Given the description of an element on the screen output the (x, y) to click on. 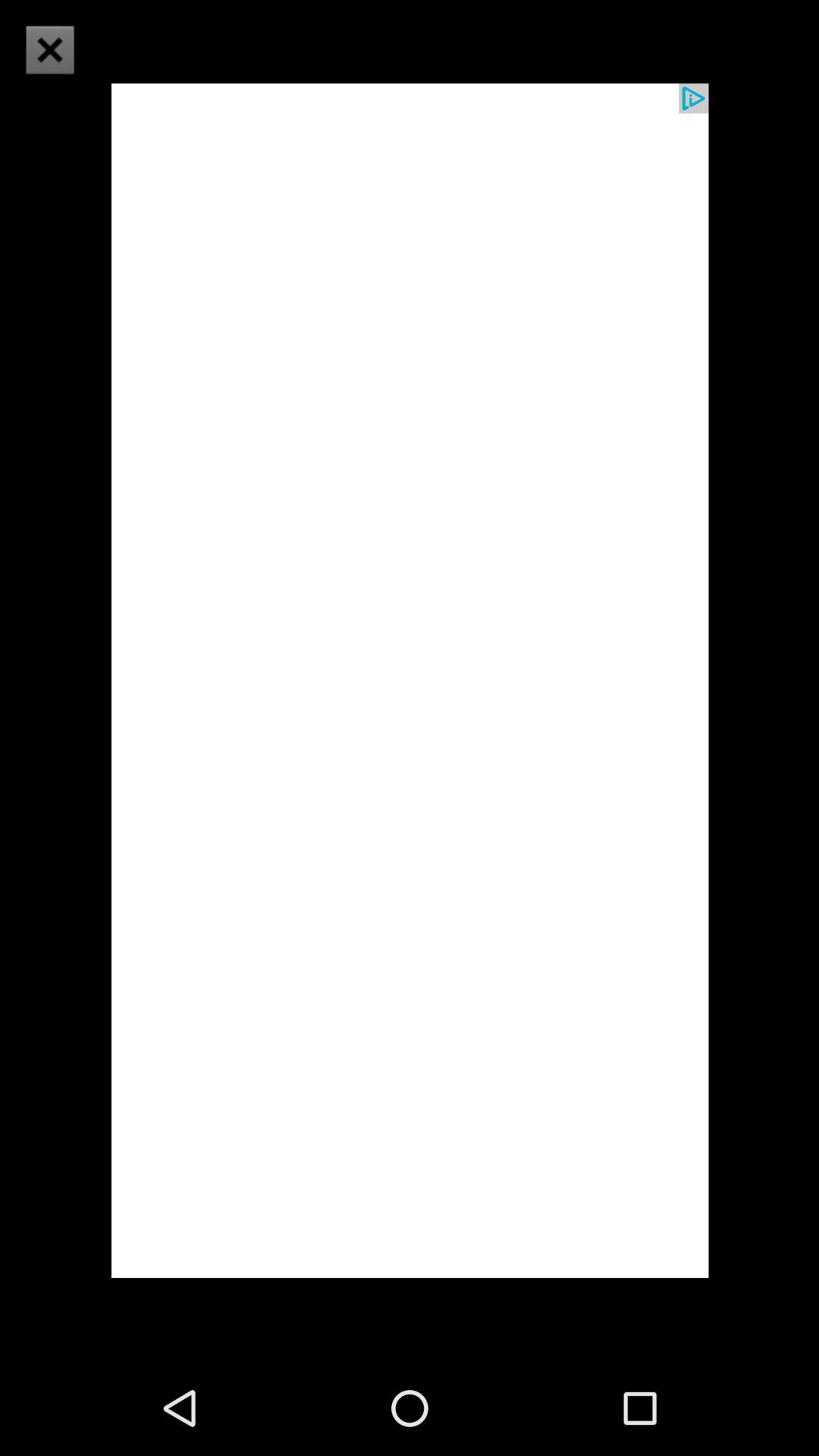
choose icon at the center (409, 680)
